Given the description of an element on the screen output the (x, y) to click on. 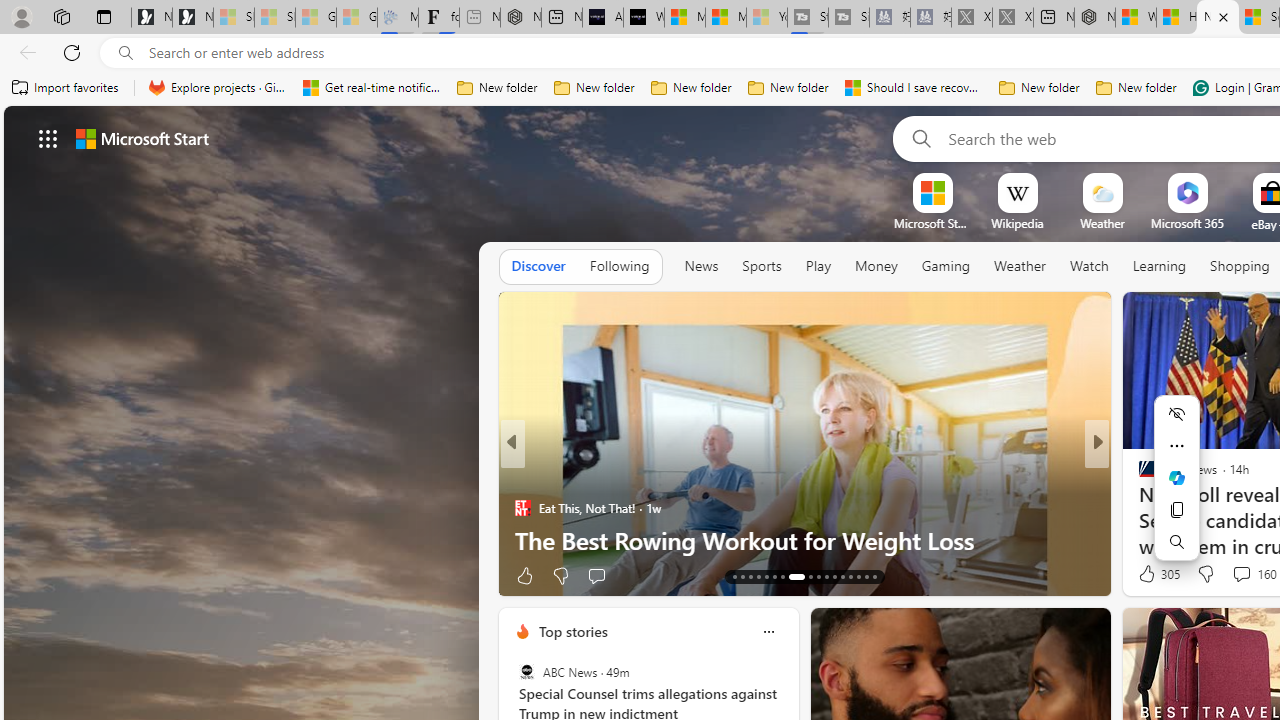
Tab actions menu (104, 16)
98 Like (1149, 574)
Top stories (572, 631)
Weather (1020, 265)
Nordace (1153, 475)
Nordace - #1 Japanese Best-Seller - Siena Smart Backpack (520, 17)
Following (619, 265)
Mini menu on text selection (1176, 489)
View comments 160 Comment (1241, 573)
View comments 6 Comment (1241, 574)
Money (875, 265)
Following (619, 267)
Learning (1159, 265)
